Given the description of an element on the screen output the (x, y) to click on. 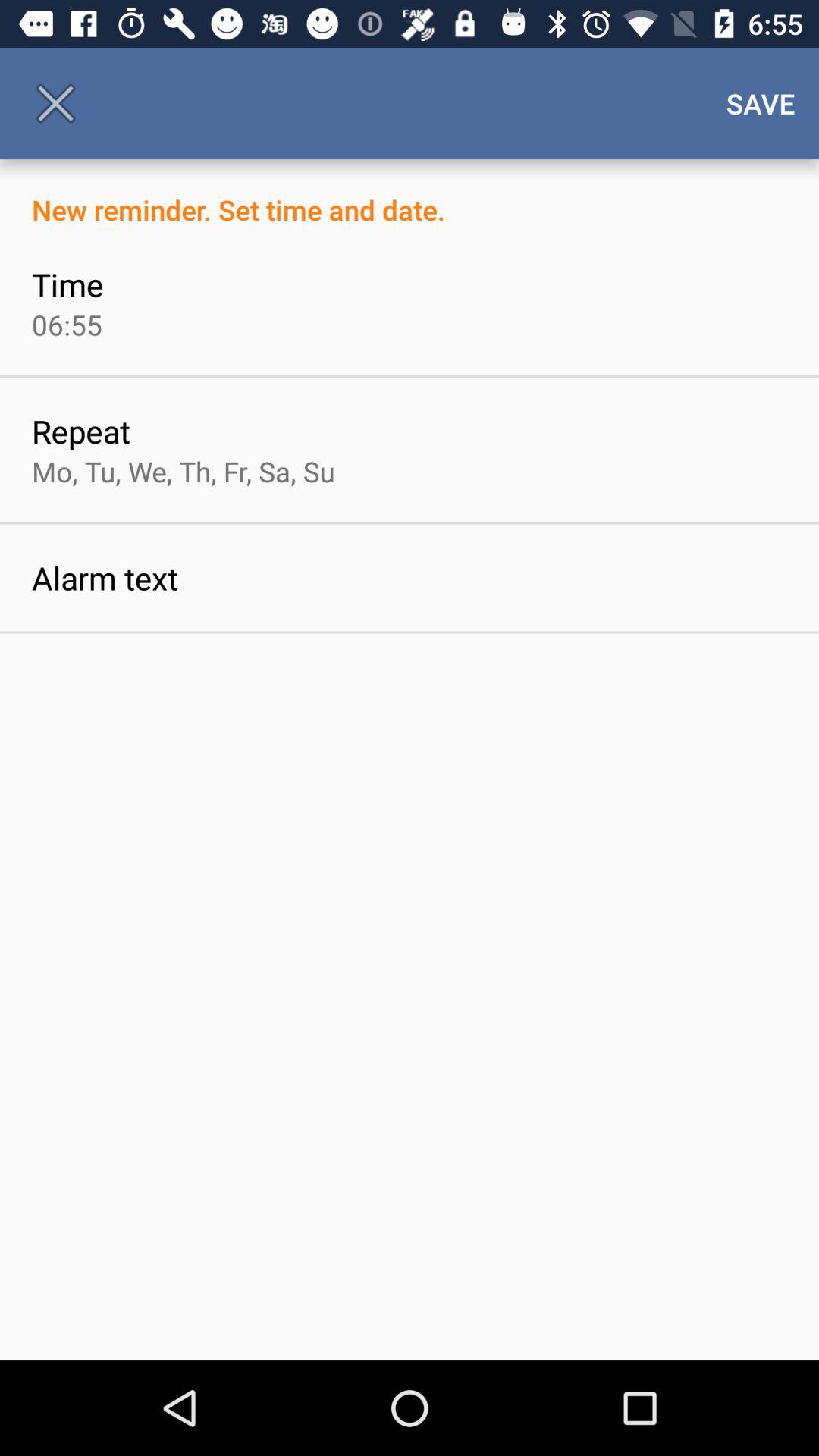
flip to the new reminder set item (409, 193)
